Given the description of an element on the screen output the (x, y) to click on. 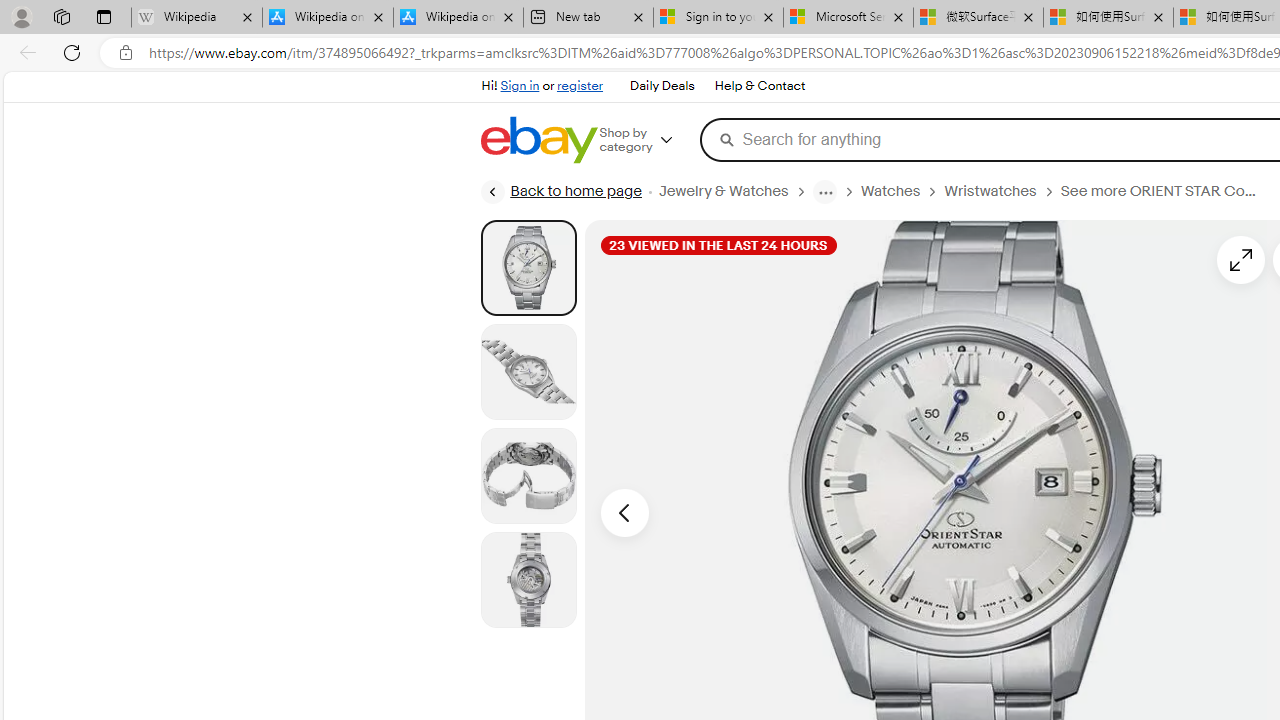
eBay Home (538, 139)
Picture 2 of 4 (528, 371)
Help & Contact (760, 86)
Picture 3 of 4 (528, 475)
Help & Contact (758, 85)
Daily Deals (662, 86)
Picture 1 of 4 (528, 268)
Picture 2 of 4 (528, 371)
Picture 1 of 4 (528, 267)
eBay Home (538, 139)
Wristwatches (990, 191)
Picture 4 of 4 (528, 579)
